Given the description of an element on the screen output the (x, y) to click on. 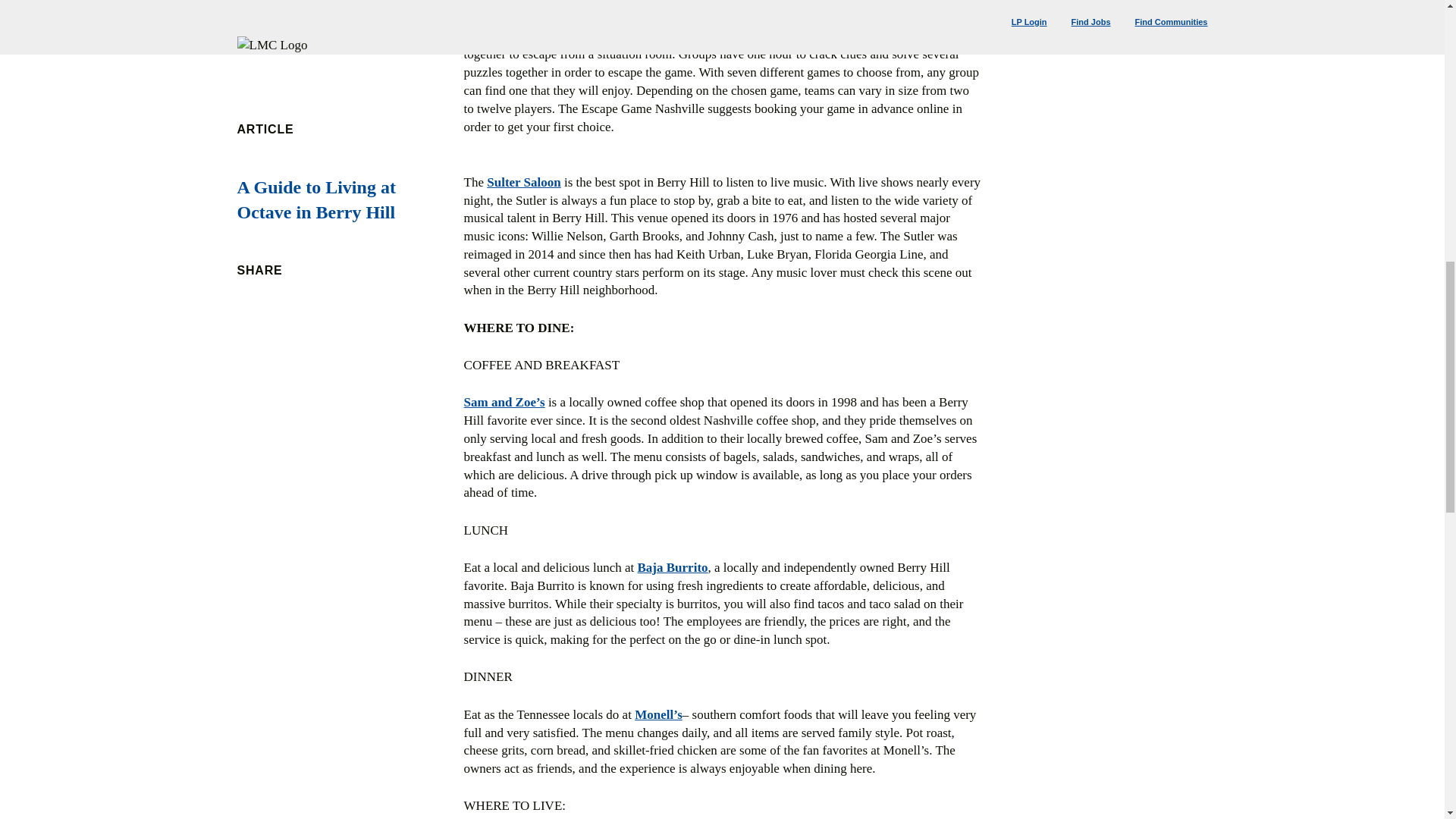
Sulter Saloon (523, 182)
Baja Burrito (672, 567)
The Escape Game (513, 36)
